Given the description of an element on the screen output the (x, y) to click on. 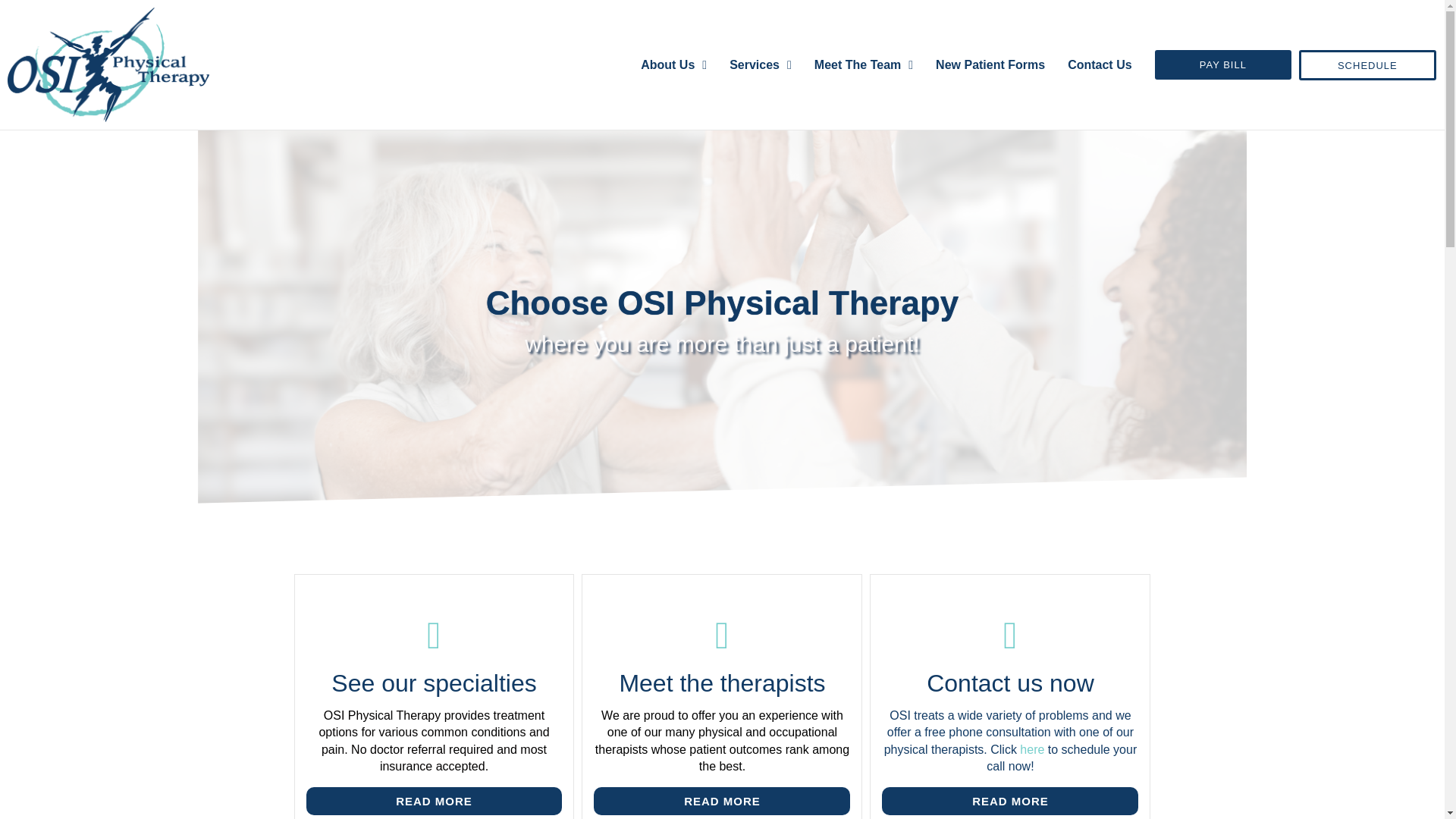
About Us (672, 65)
Services (760, 65)
